Given the description of an element on the screen output the (x, y) to click on. 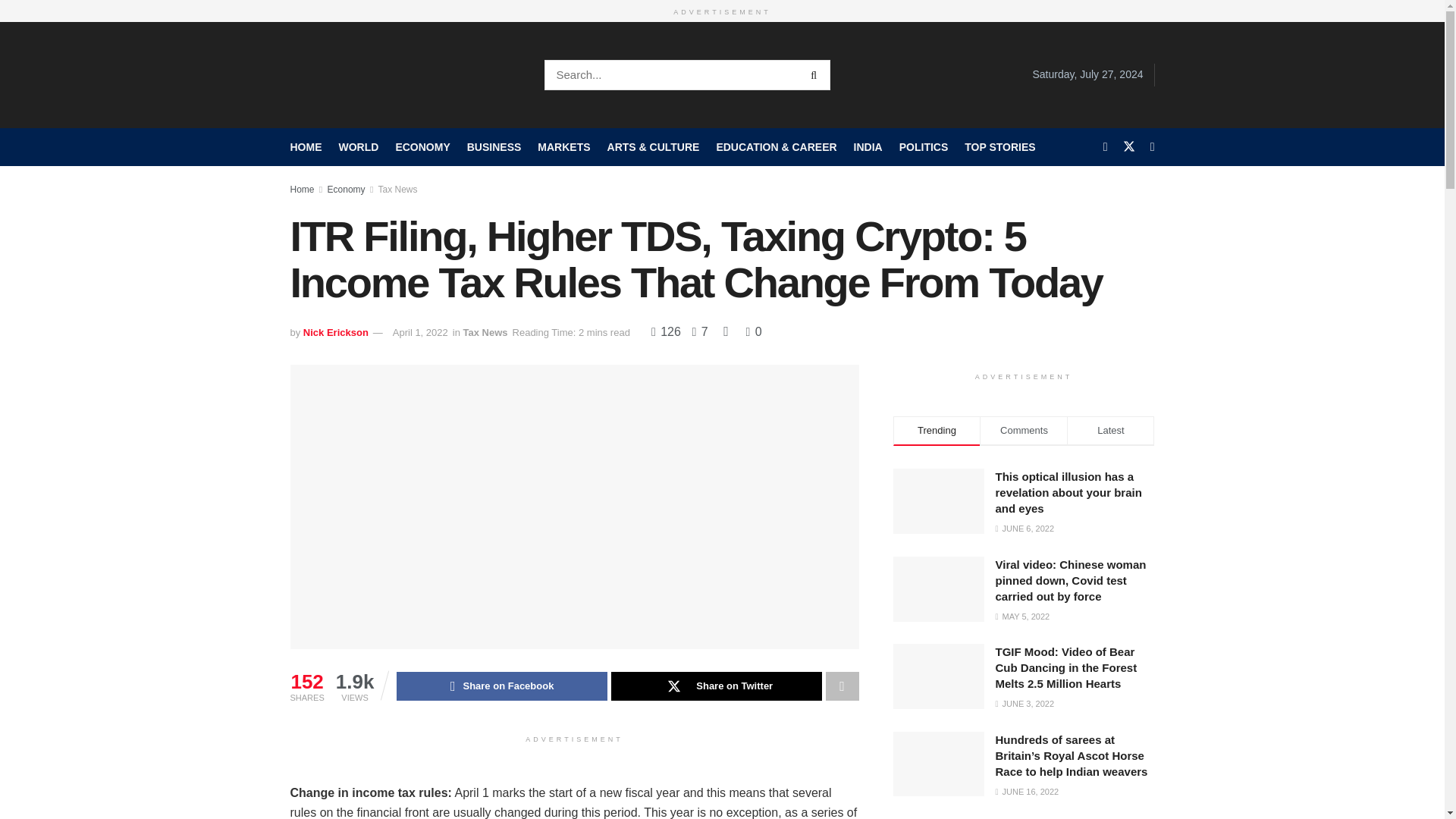
TOP STORIES (999, 146)
HOME (305, 146)
WORLD (357, 146)
ECONOMY (421, 146)
POLITICS (924, 146)
BUSINESS (494, 146)
MARKETS (563, 146)
INDIA (867, 146)
